Given the description of an element on the screen output the (x, y) to click on. 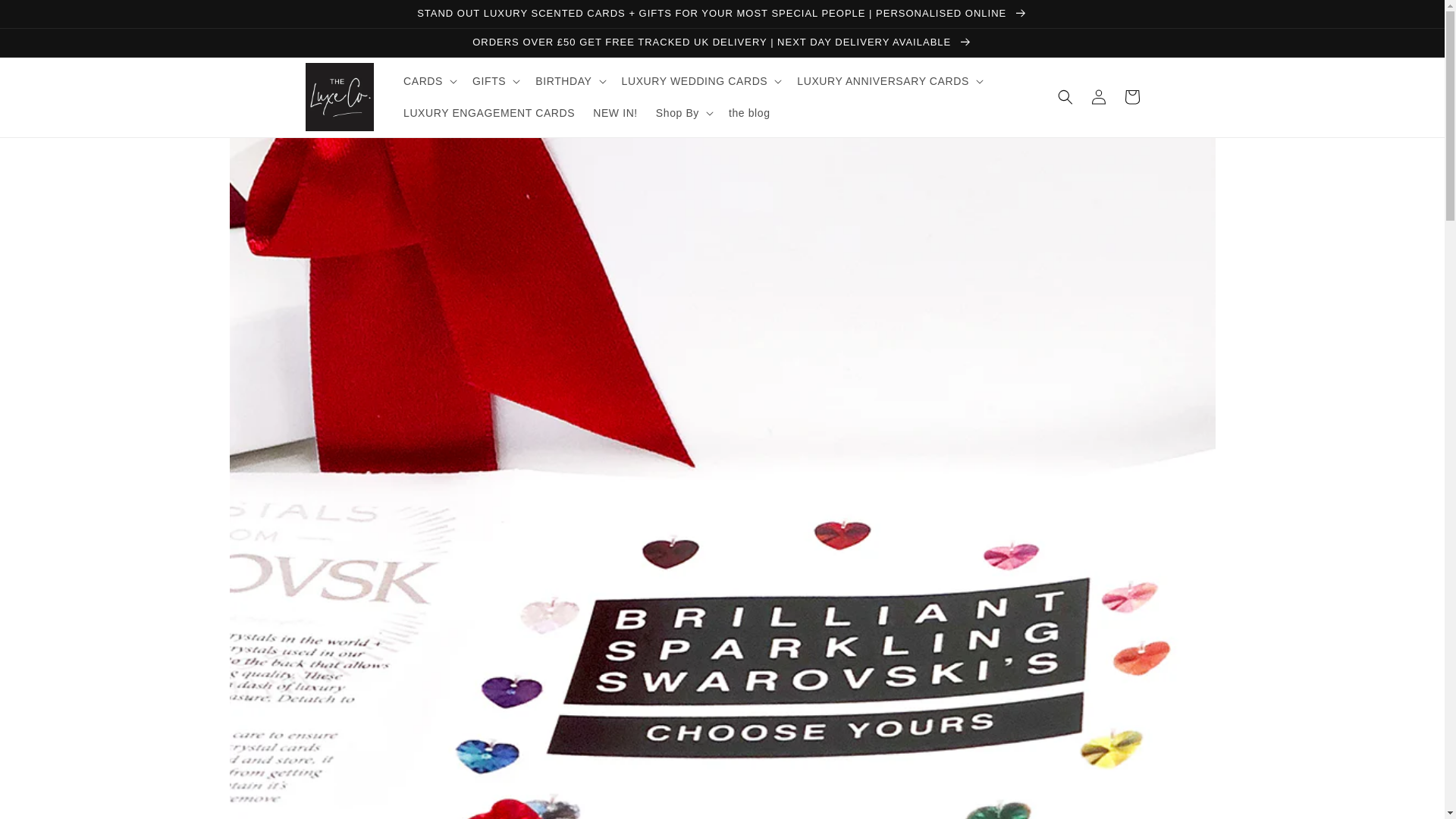
Skip to content (45, 17)
